Given the description of an element on the screen output the (x, y) to click on. 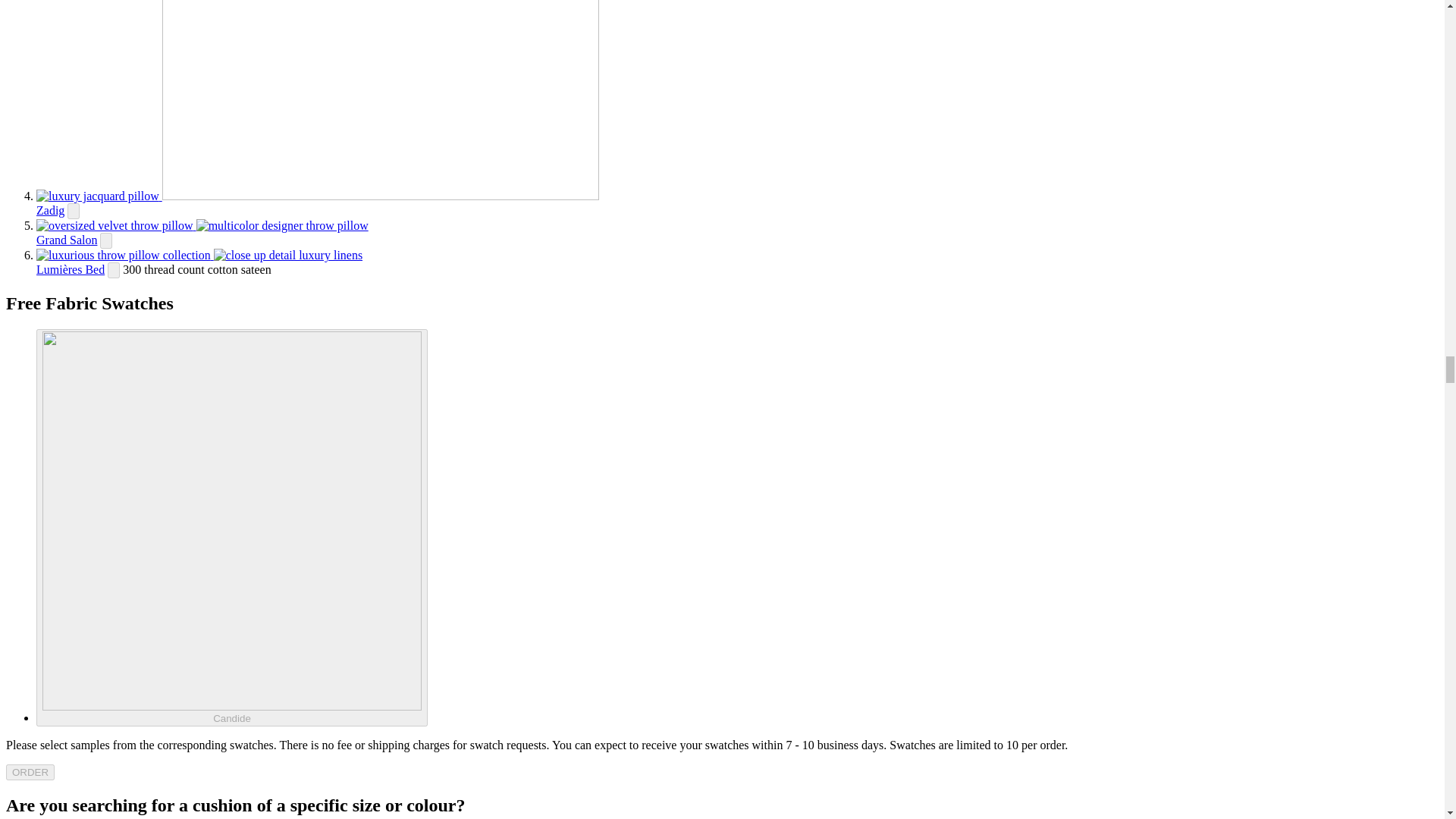
Grand Salon (66, 239)
Zadig (50, 210)
Grand Salon (202, 225)
ORDER (30, 772)
Zadig (317, 195)
